Given the description of an element on the screen output the (x, y) to click on. 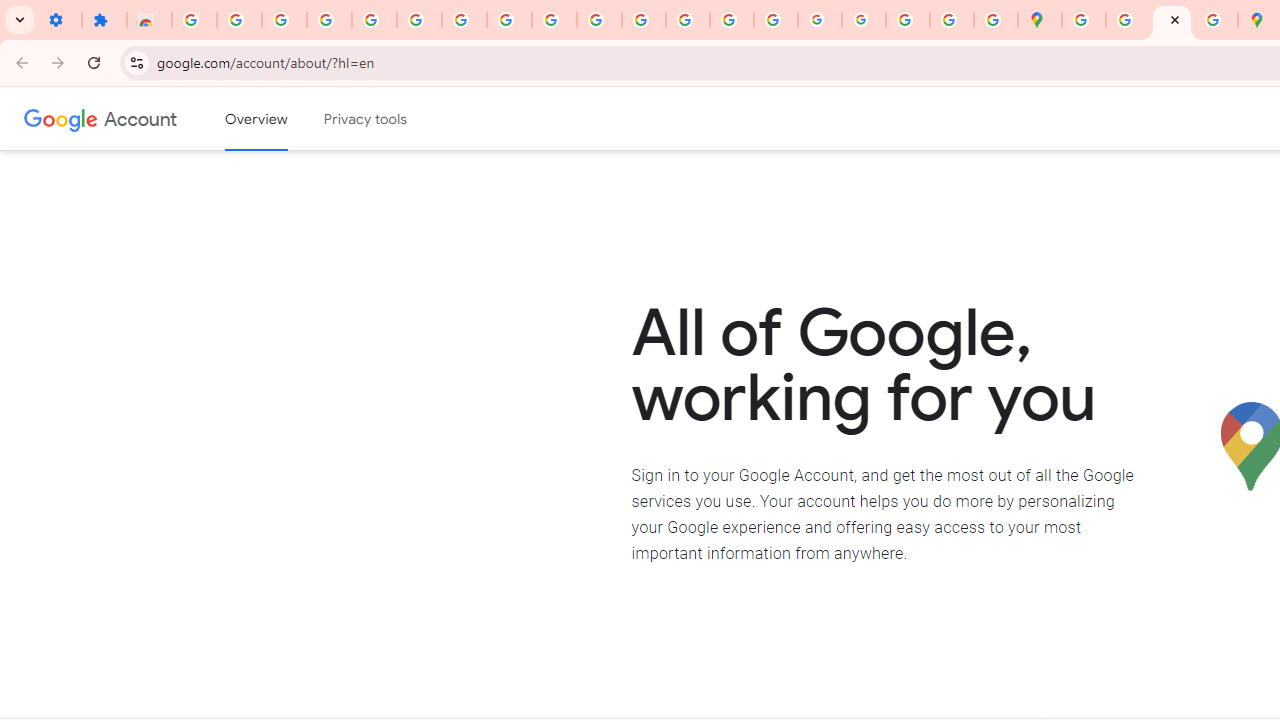
Settings - On startup (59, 20)
Google Account (509, 20)
Privacy tools (365, 119)
Sign in - Google Accounts (194, 20)
